Given the description of an element on the screen output the (x, y) to click on. 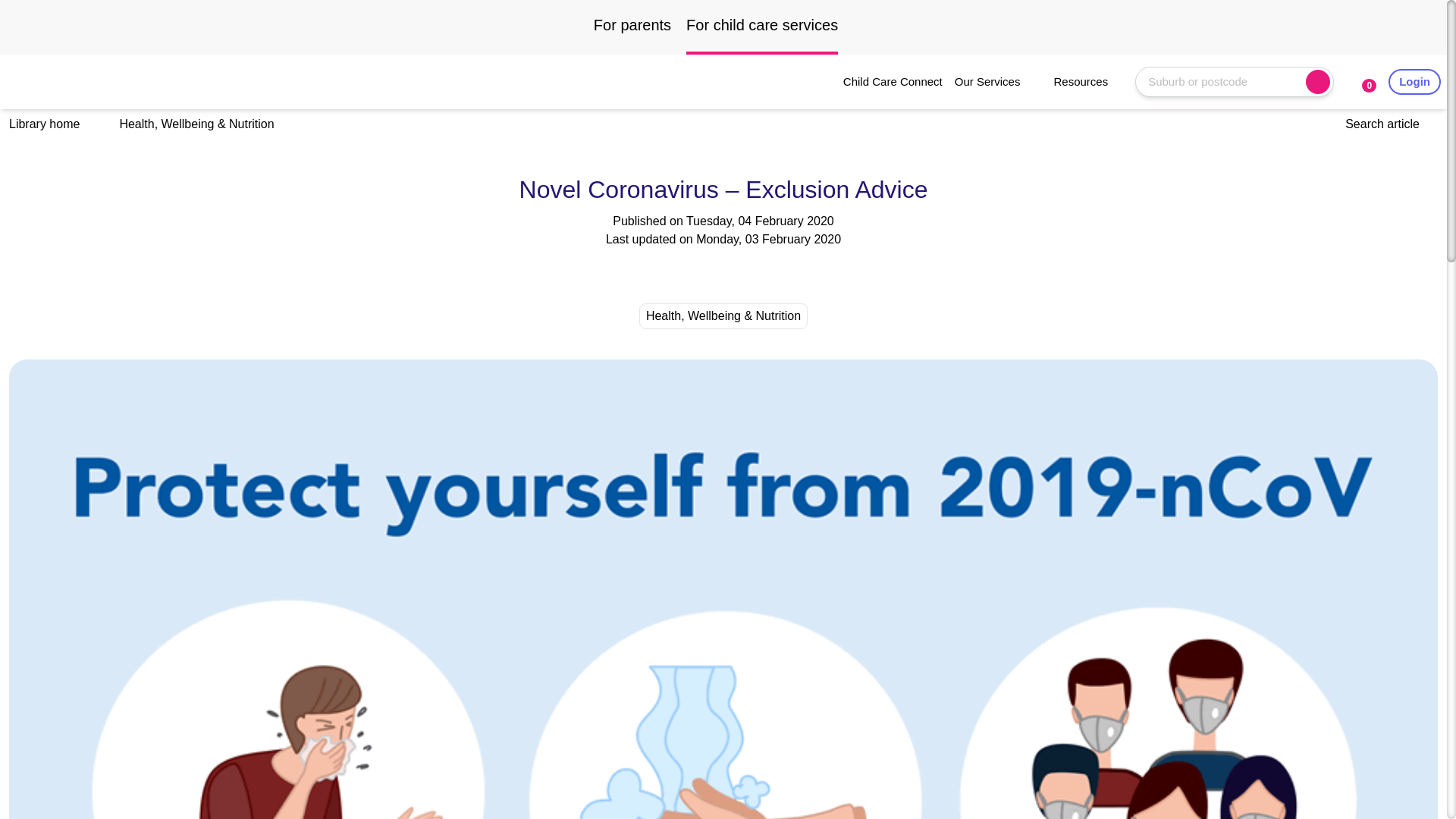
Our Services (998, 81)
Share with Facebook (662, 272)
CareforKids.co.nz (61, 81)
Child Care Connect (892, 81)
For child care services (761, 32)
Resources (1090, 81)
Login (1415, 81)
For parents (632, 32)
Suburb or postcode (1227, 81)
Share with Instagram (692, 272)
Login (1415, 81)
Serach articles (1391, 124)
Your favourites (1361, 81)
